Given the description of an element on the screen output the (x, y) to click on. 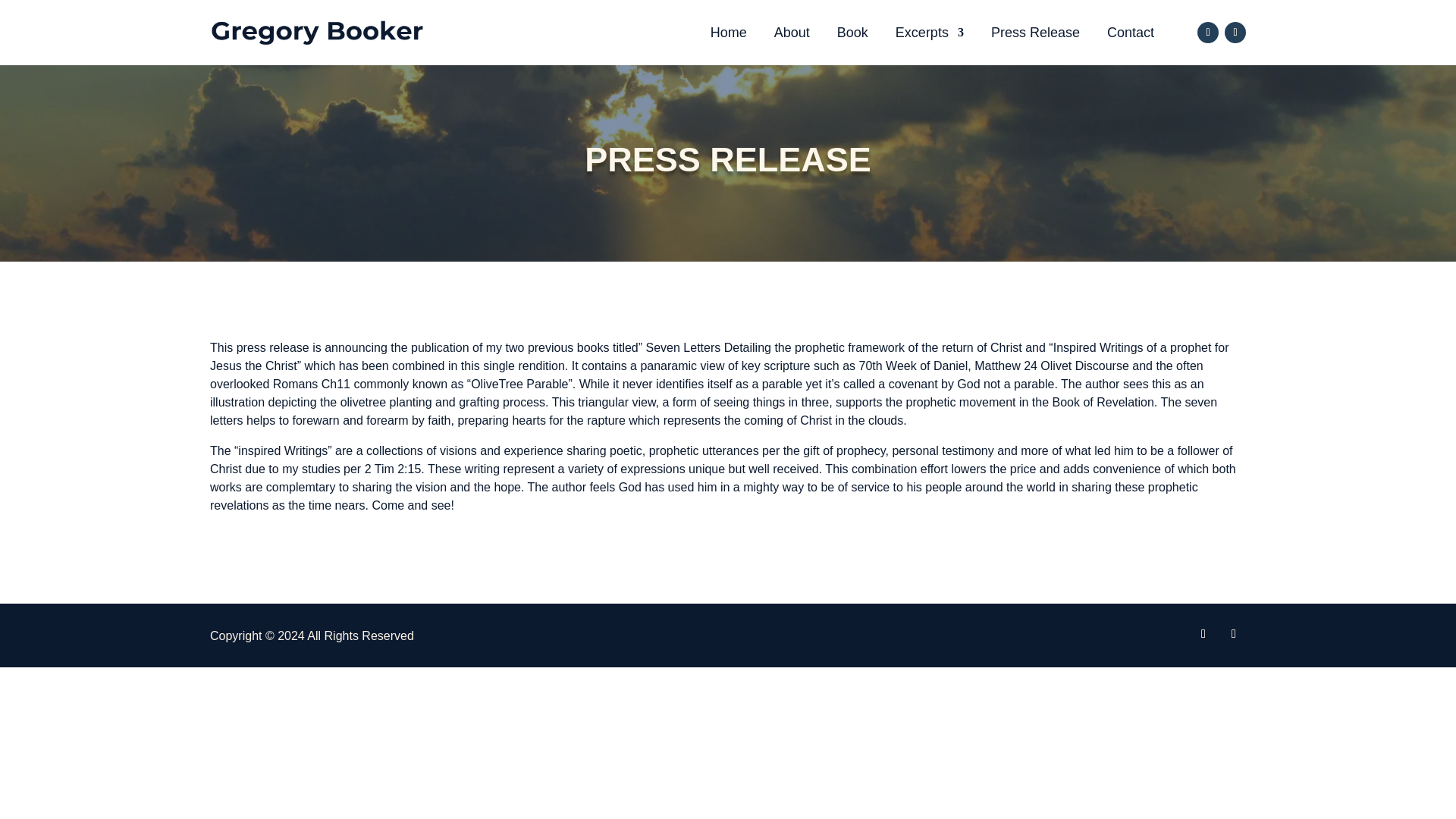
Press Release (1035, 32)
Follow on Facebook (1203, 633)
Follow on LinkedIn (1235, 32)
Excerpts (929, 32)
Follow on Facebook (1207, 32)
Follow on LinkedIn (1233, 633)
